Given the description of an element on the screen output the (x, y) to click on. 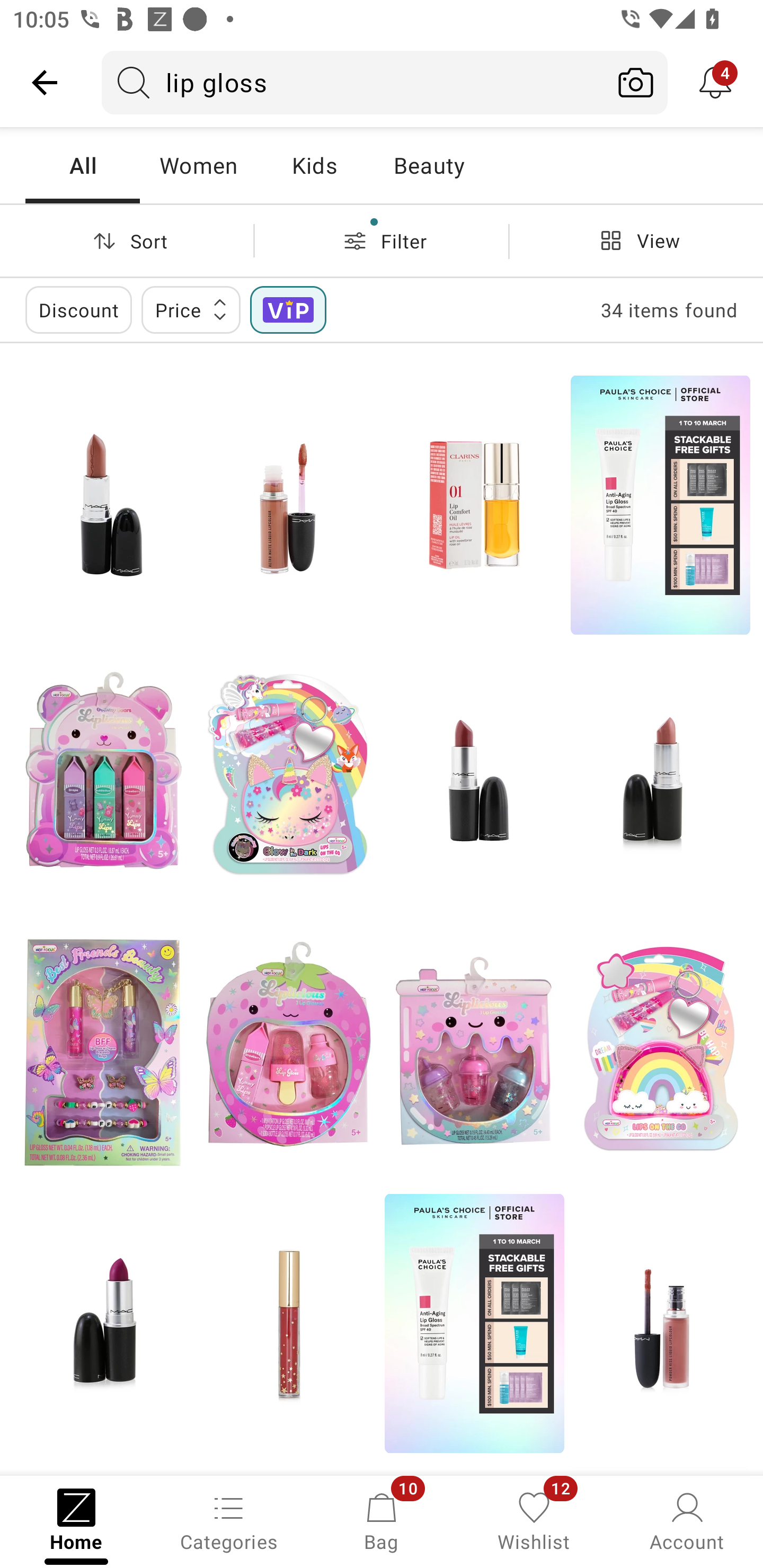
Navigate up (44, 82)
lip gloss (352, 82)
Women (198, 165)
Kids (314, 165)
Beauty (428, 165)
Sort (126, 240)
Filter (381, 240)
View (636, 240)
Discount (78, 309)
Price (190, 309)
Categories (228, 1519)
Bag, 10 new notifications Bag (381, 1519)
Wishlist, 12 new notifications Wishlist (533, 1519)
Account (686, 1519)
